Given the description of an element on the screen output the (x, y) to click on. 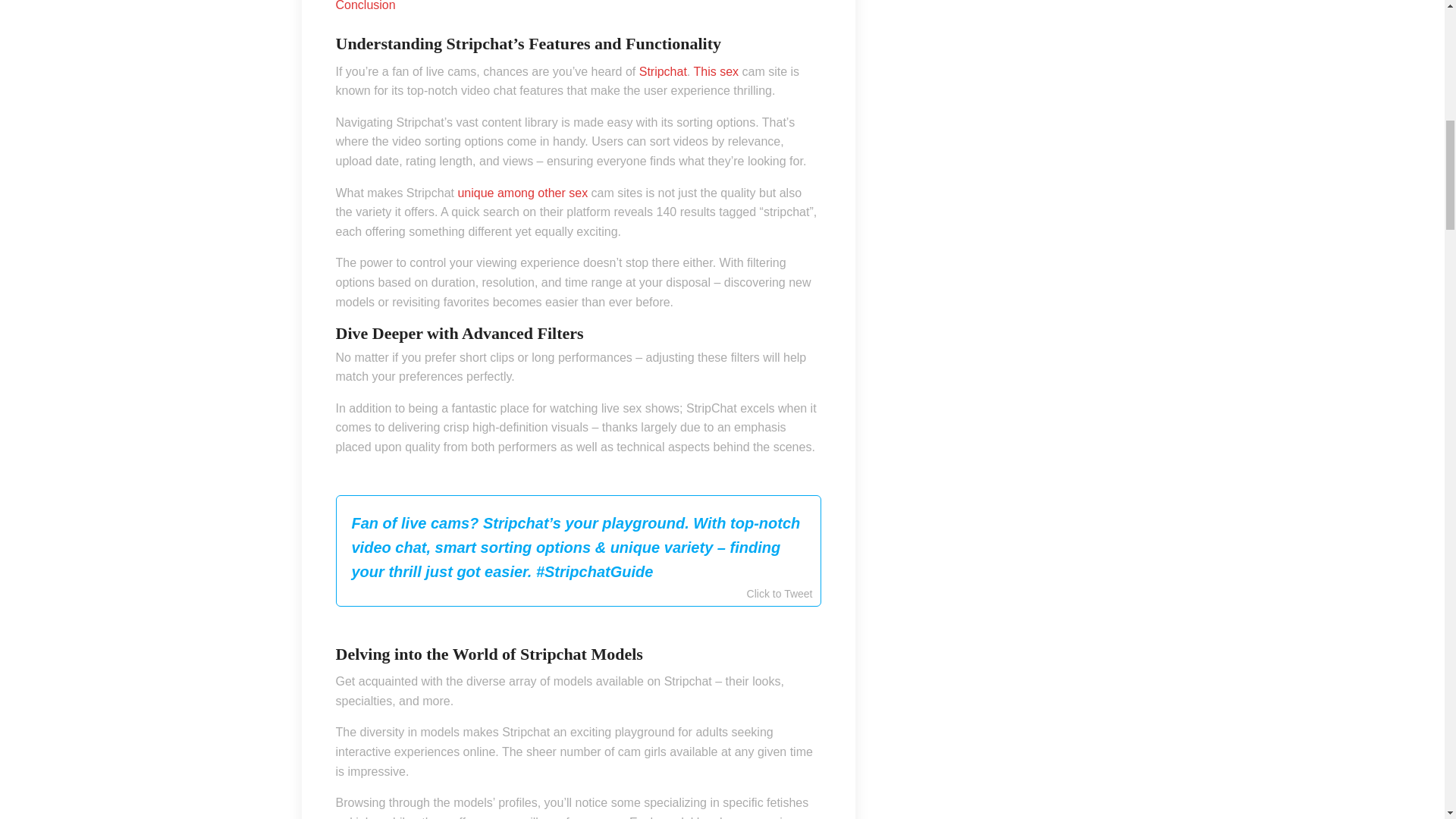
unique among other sex (522, 192)
This sex (715, 71)
Conclusion (364, 5)
Stripchat (663, 71)
